Given the description of an element on the screen output the (x, y) to click on. 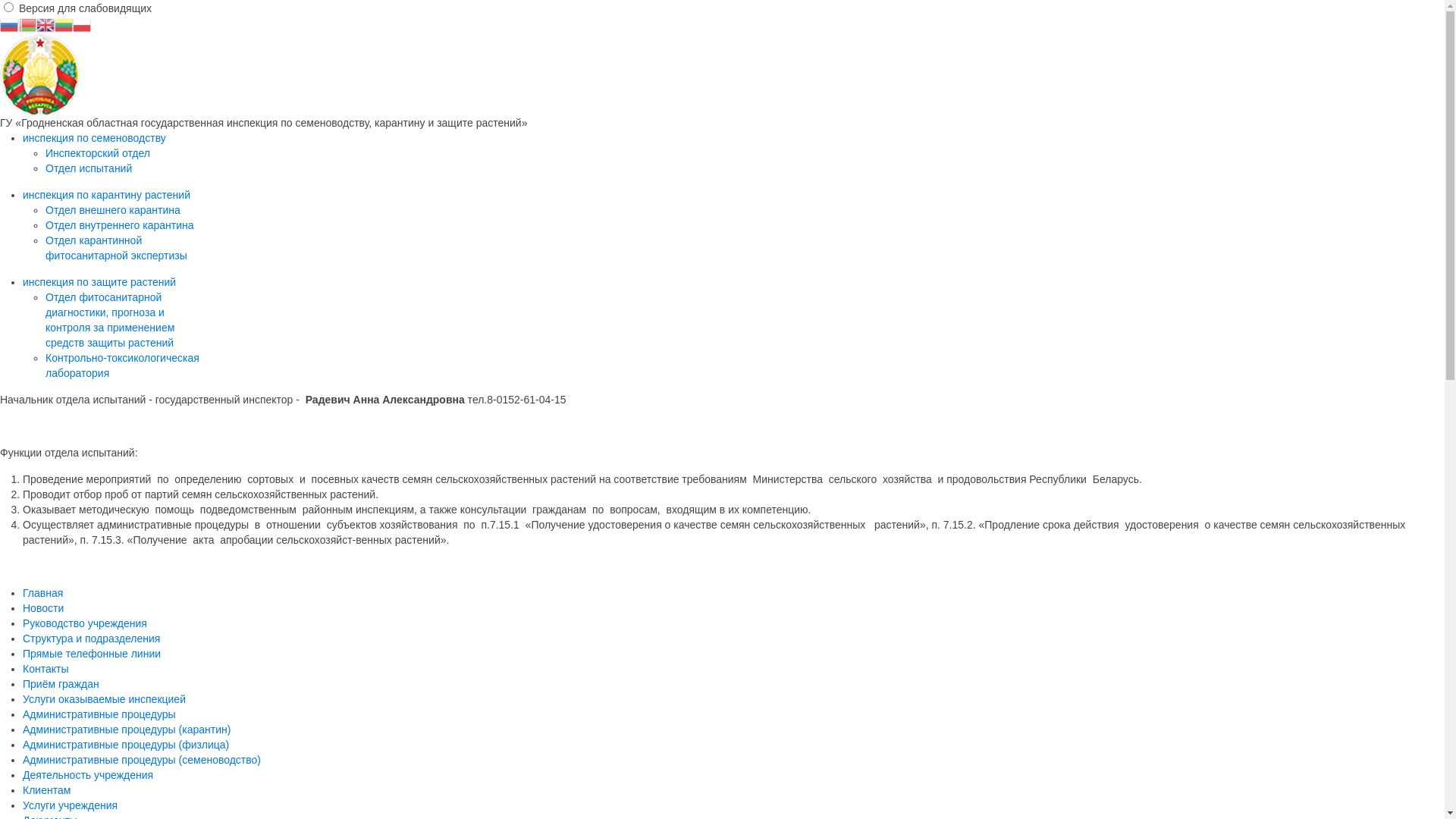
Belarusian Element type: hover (27, 24)
Lithuanian Element type: hover (63, 24)
English Element type: hover (45, 24)
Polish Element type: hover (81, 24)
Russian Element type: hover (9, 24)
